Given the description of an element on the screen output the (x, y) to click on. 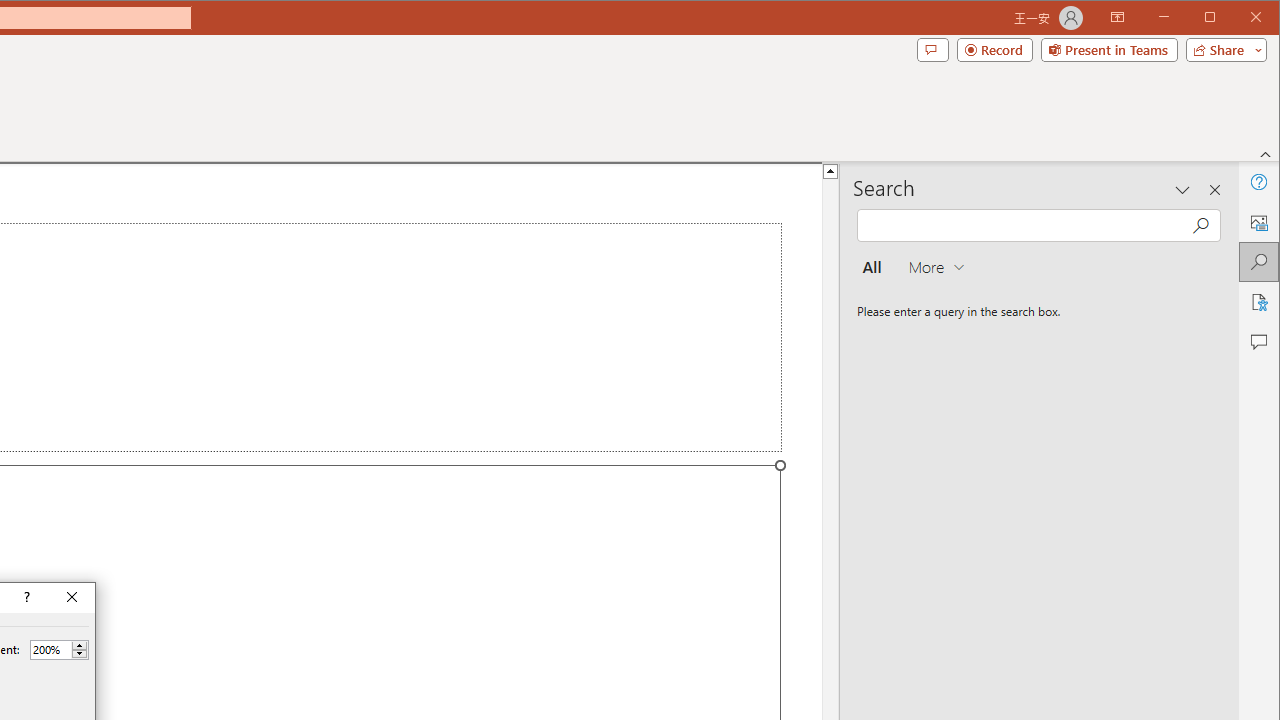
Percent (59, 650)
